Given the description of an element on the screen output the (x, y) to click on. 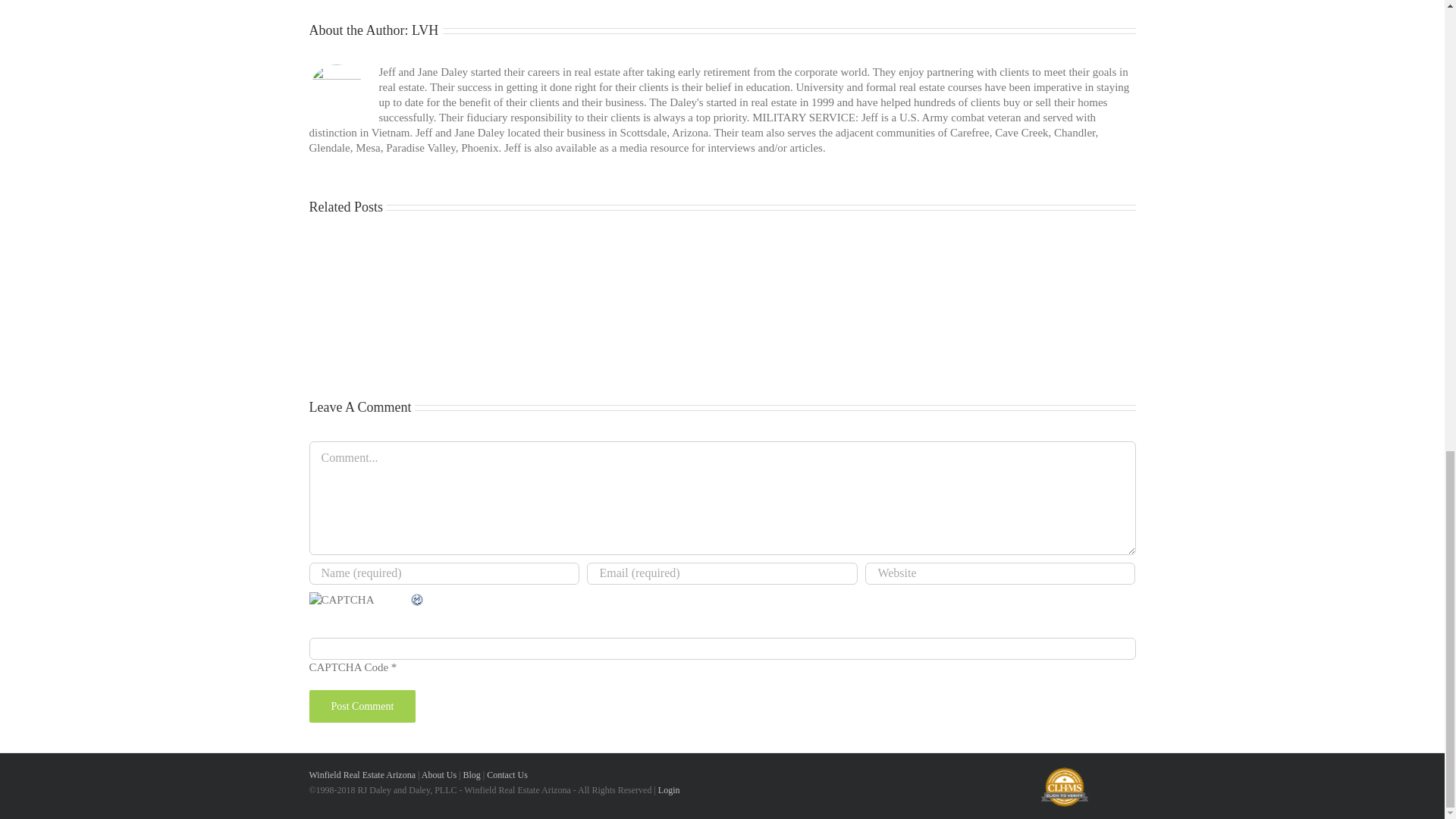
Post Comment (362, 706)
